Given the description of an element on the screen output the (x, y) to click on. 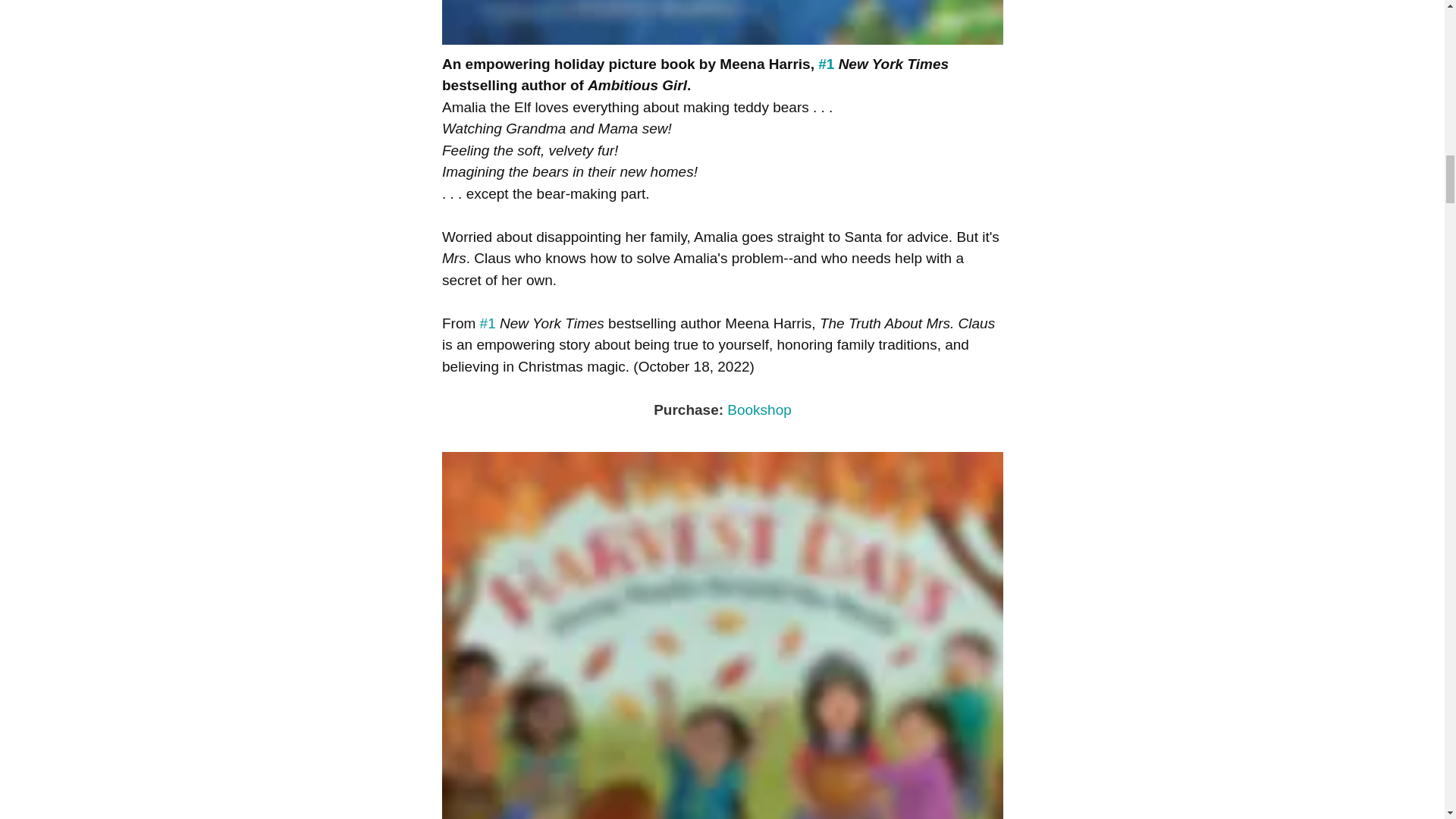
Bookshop (759, 409)
